Given the description of an element on the screen output the (x, y) to click on. 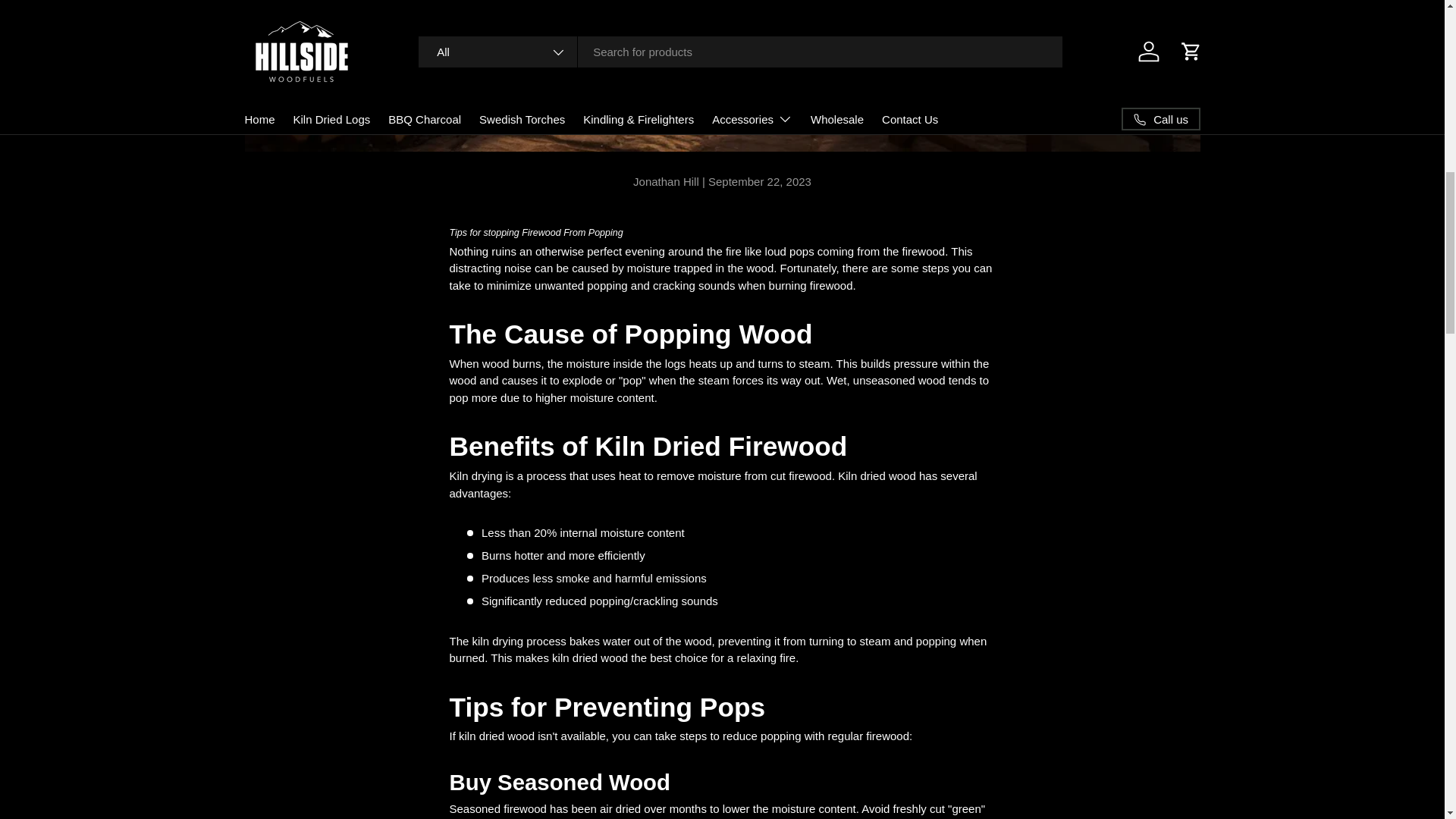
Next (1410, 22)
Previous (44, 22)
The Secret to Perfectly Smoky, Restaurant-Worthy Barbecue (1410, 22)
